Given the description of an element on the screen output the (x, y) to click on. 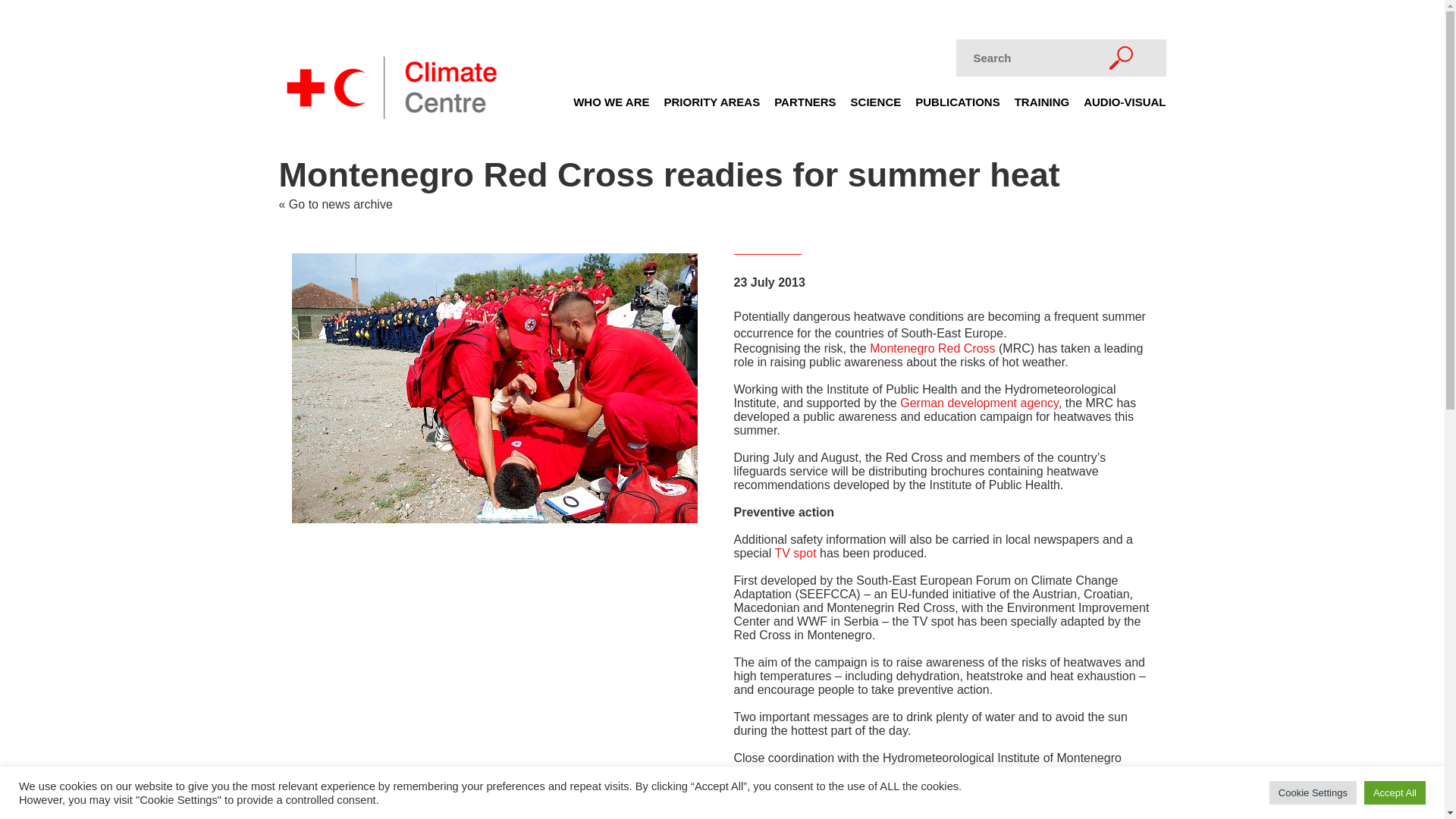
German development agency (978, 402)
PUBLICATIONS (956, 105)
AUDIO-VISUAL (1124, 105)
Montenegro Red Cross (931, 348)
PARTNERS (804, 105)
TV spot (794, 553)
TRAINING (1042, 105)
WHO WE ARE (611, 105)
PRIORITY AREAS (711, 105)
SCIENCE (875, 105)
